Given the description of an element on the screen output the (x, y) to click on. 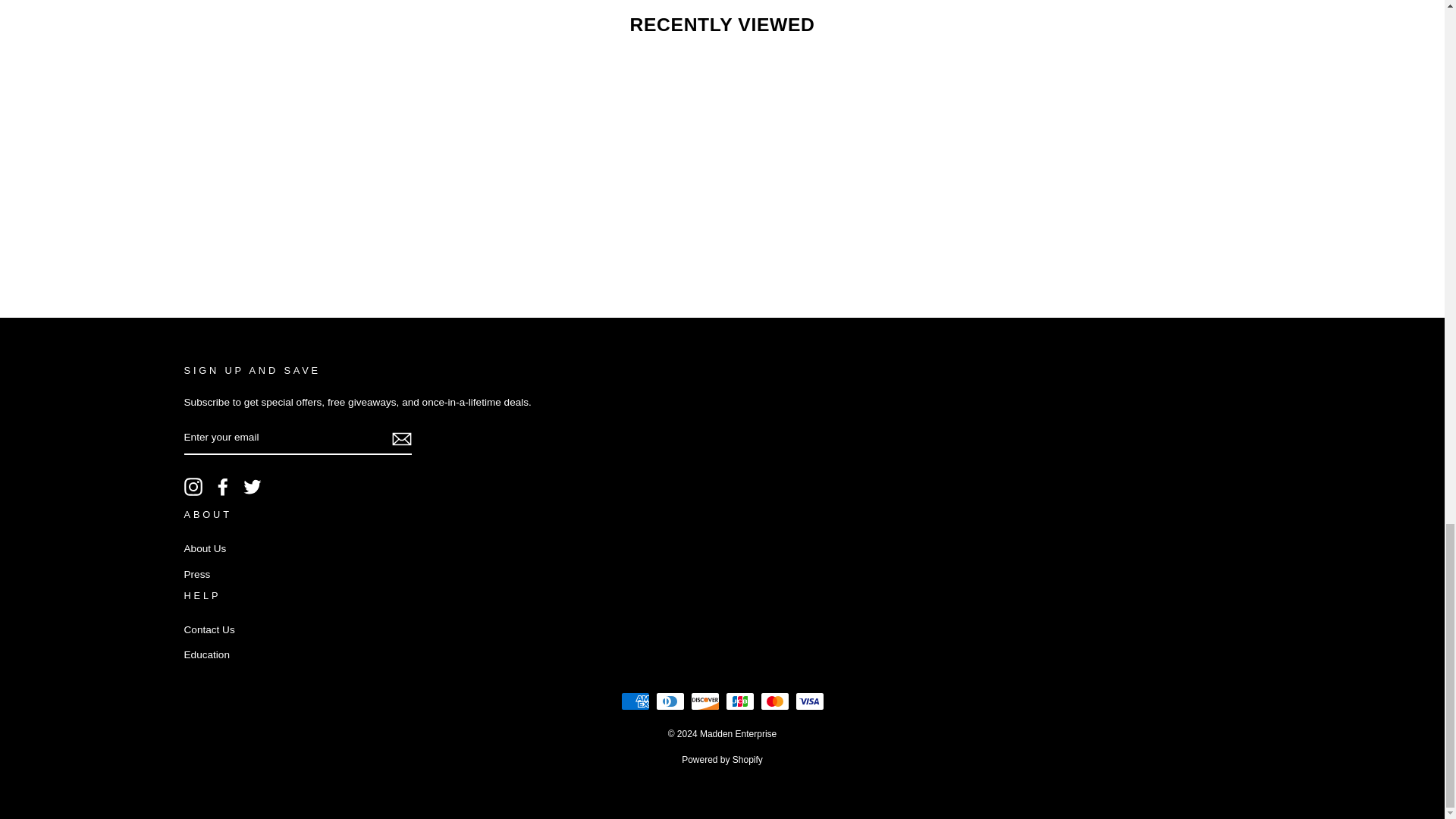
Mastercard (774, 701)
Madden Enterprise on Facebook (222, 486)
Madden Enterprise on Twitter (251, 486)
Visa (809, 701)
Diners Club (669, 701)
JCB (739, 701)
Discover (704, 701)
American Express (634, 701)
Madden Enterprise on Instagram (192, 486)
